Given the description of an element on the screen output the (x, y) to click on. 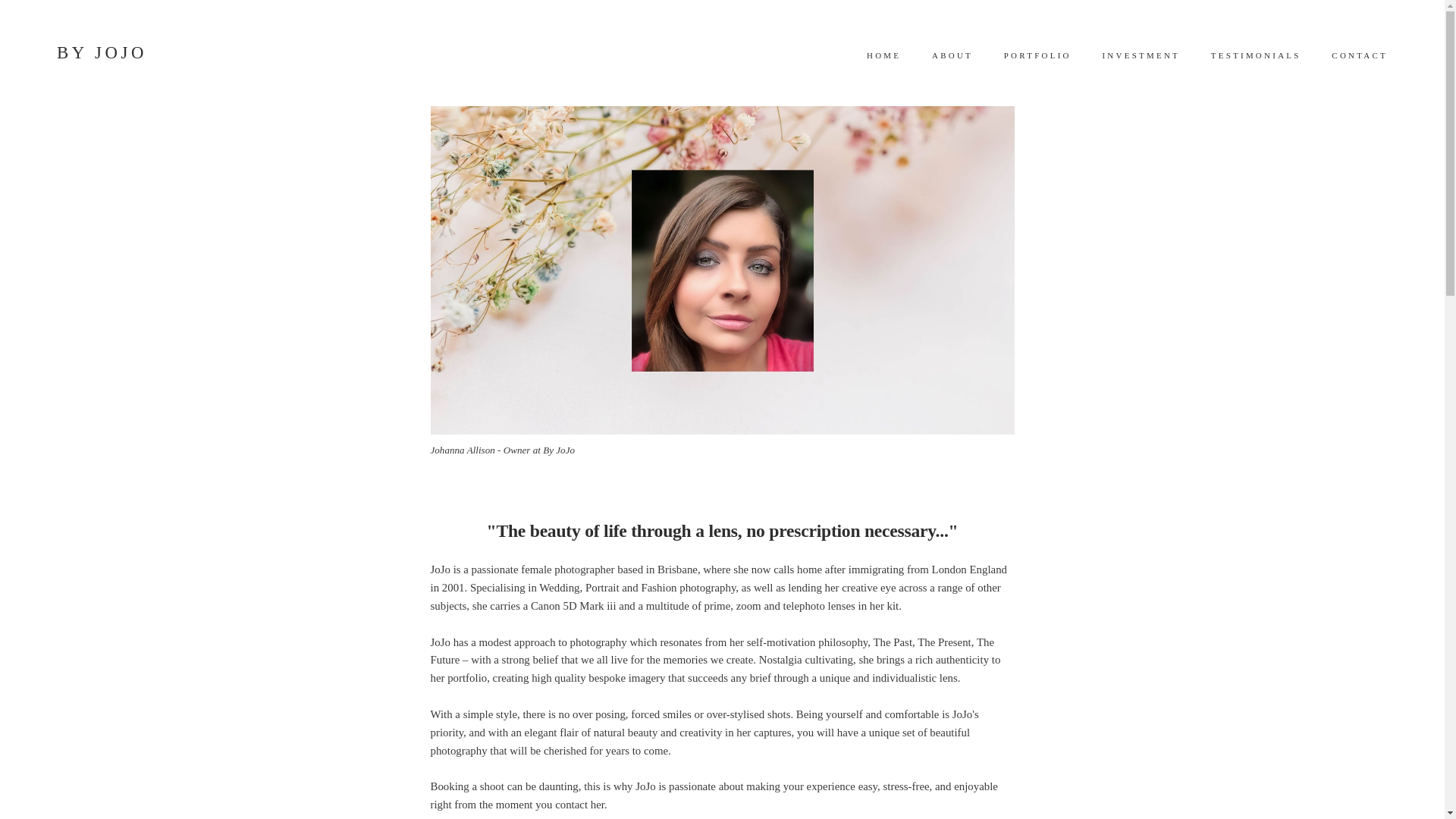
ABOUT (952, 55)
BY JOJO (102, 53)
CONTACT (1359, 55)
INVESTMENT (1140, 55)
PORTFOLIO (1037, 55)
HOME (884, 55)
TESTIMONIALS (1255, 55)
